Given the description of an element on the screen output the (x, y) to click on. 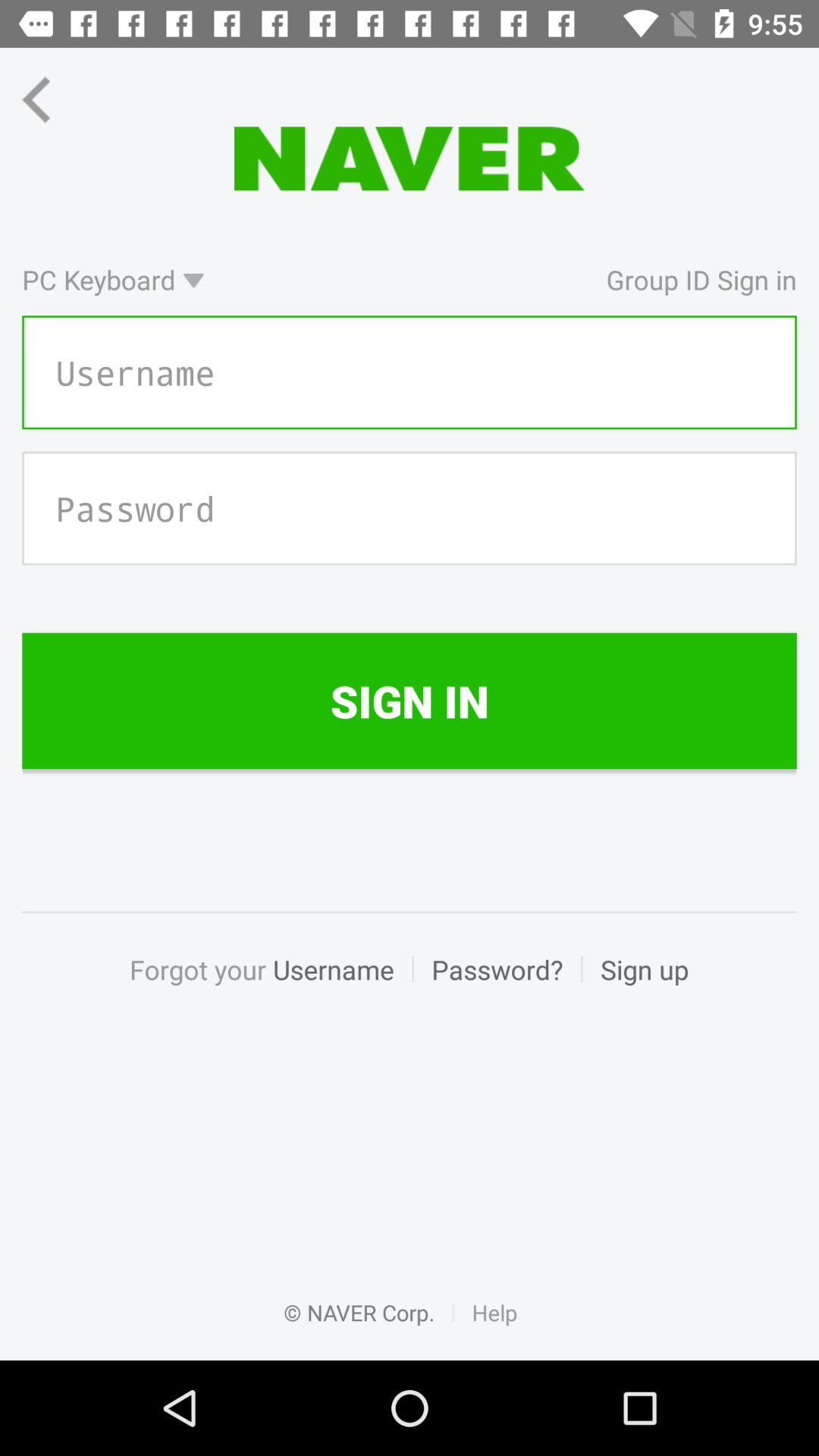
swipe until group id sign app (508, 279)
